Given the description of an element on the screen output the (x, y) to click on. 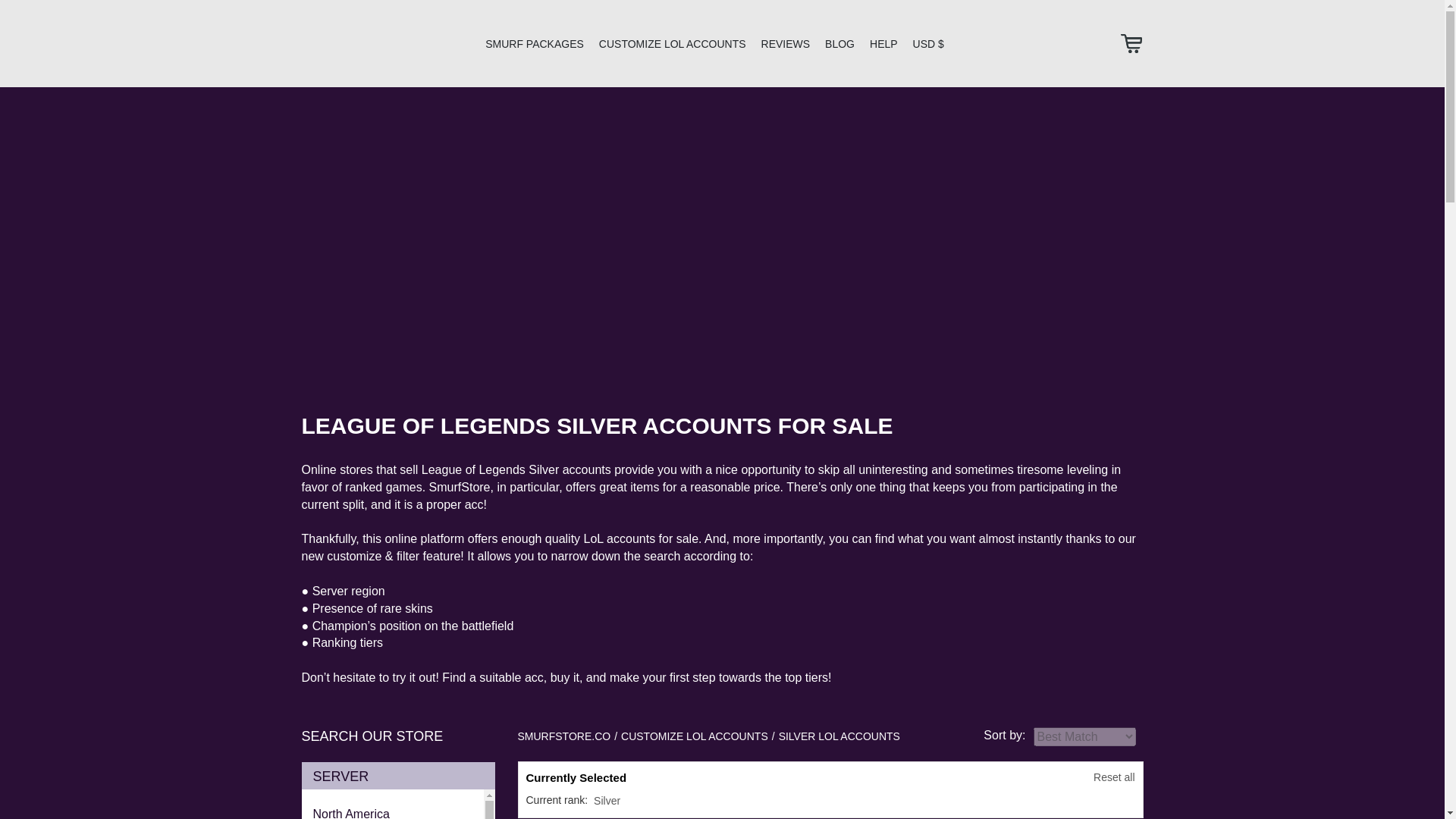
SMURF PACKAGES (533, 43)
CUSTOMIZE LOL ACCOUNTS (671, 43)
